Given the description of an element on the screen output the (x, y) to click on. 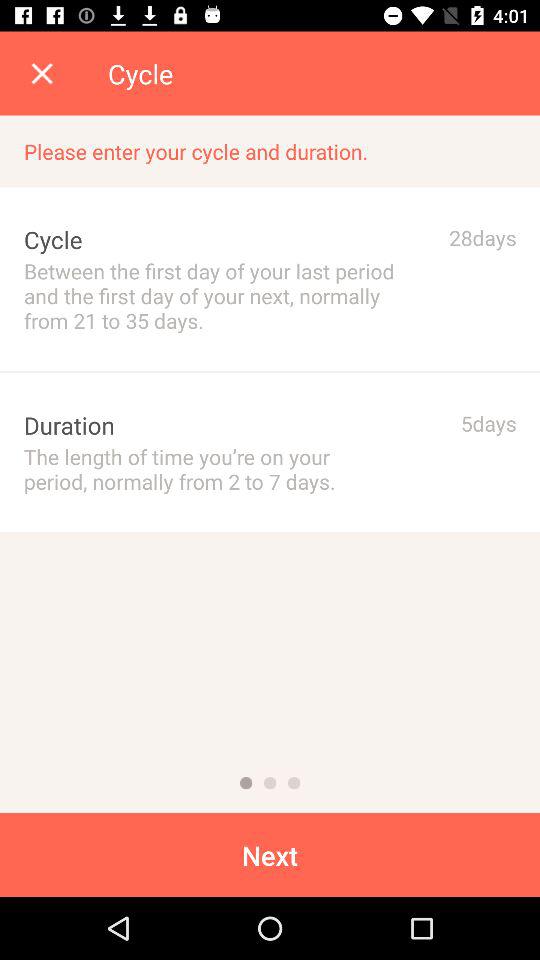
go on the next screen (270, 783)
